Given the description of an element on the screen output the (x, y) to click on. 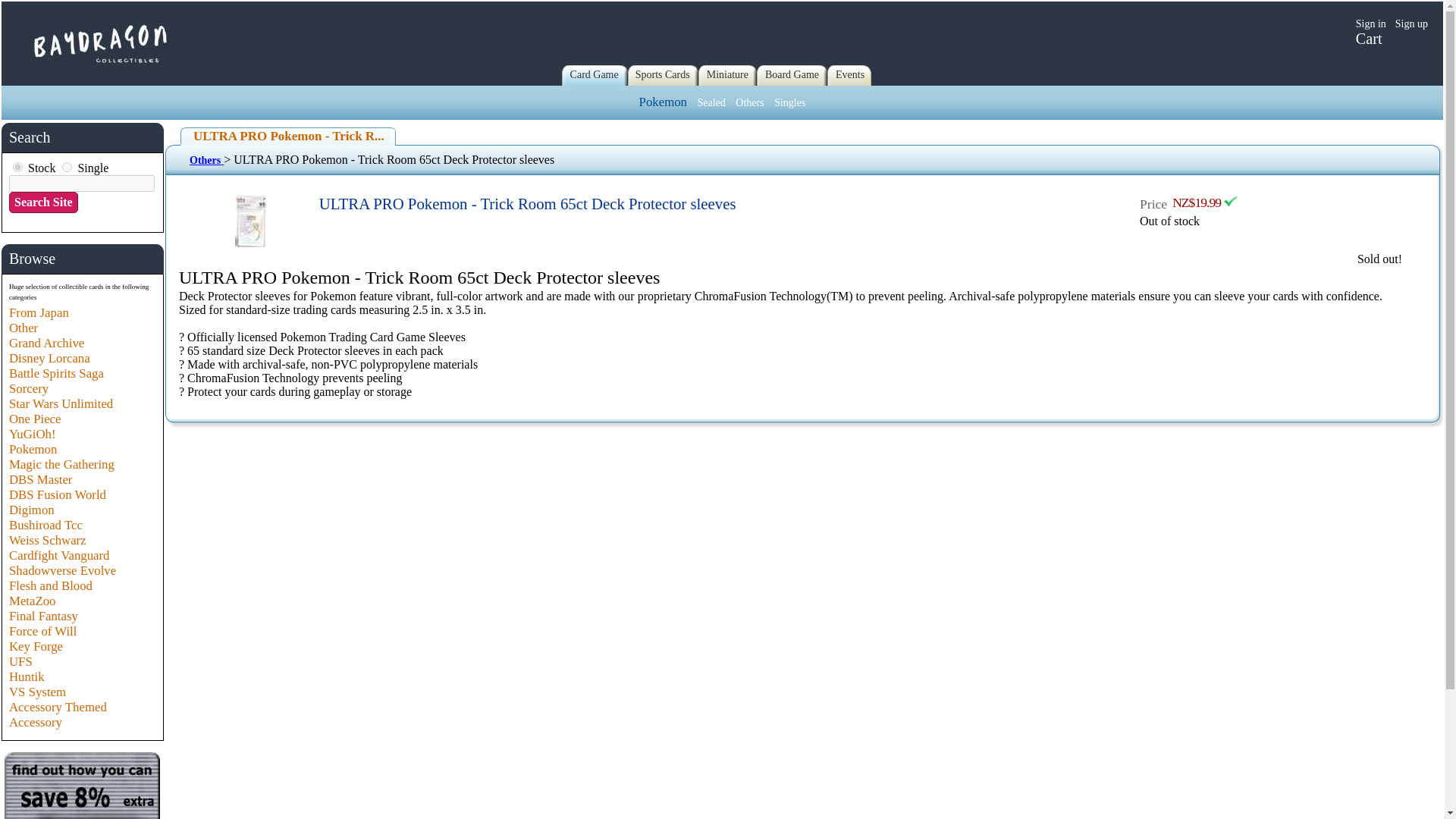
Board Game (791, 74)
Battle Spirits Saga (55, 373)
Weiss Schwarz (46, 540)
Bushiroad Tcc (45, 524)
Singles (789, 102)
Miniature (727, 74)
Other (22, 327)
MetaZoo (32, 600)
DBS Master (39, 479)
Search Site (43, 201)
Final Fantasy (43, 616)
Pokemon (32, 449)
Sign in (1370, 23)
ULTRA PRO Pokemon - Trick Room 65ct Deck Protector sleeves (527, 203)
Flesh and Blood (50, 585)
